Given the description of an element on the screen output the (x, y) to click on. 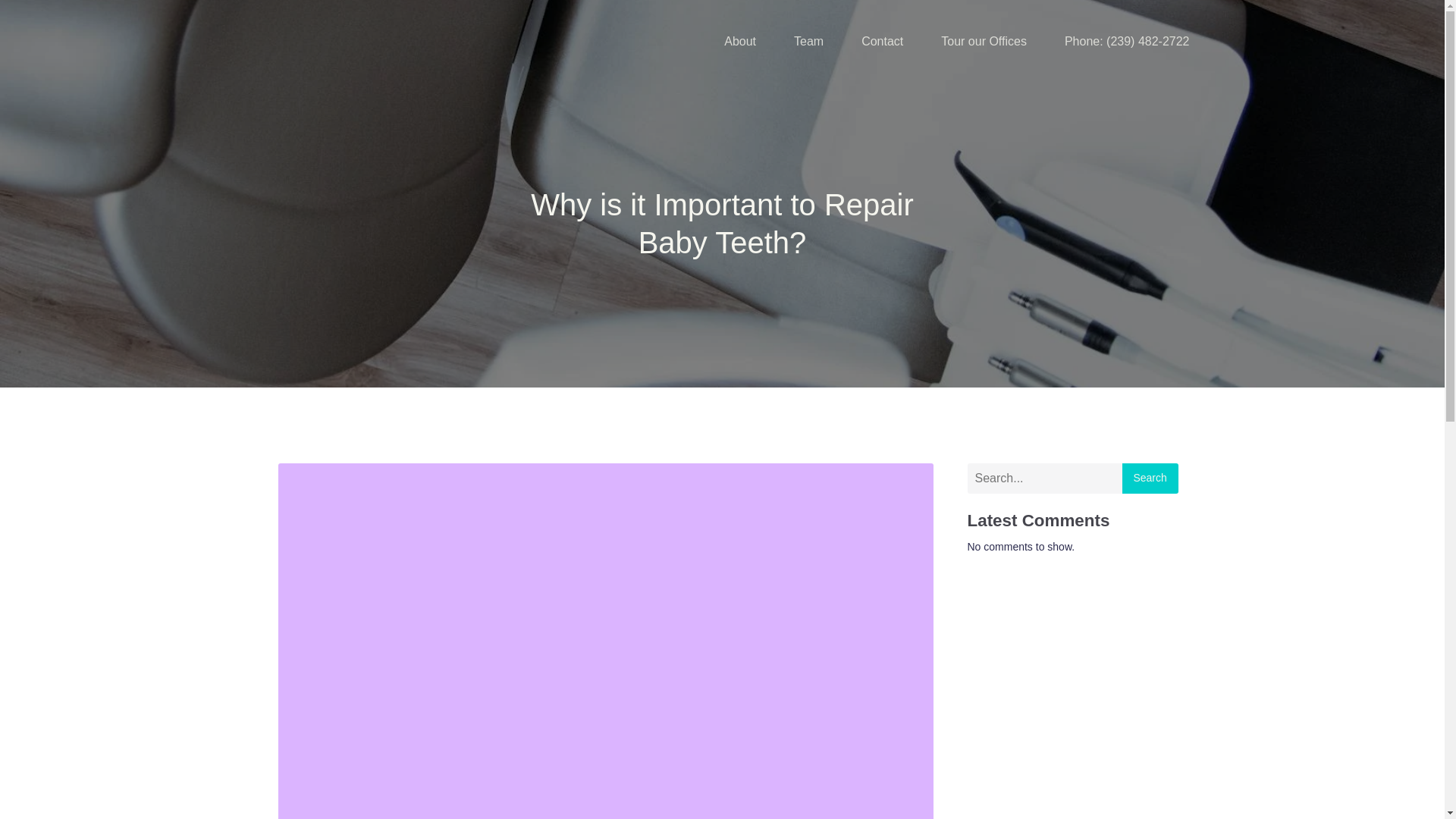
About (739, 41)
Search (1149, 478)
Contact (881, 41)
Tour our Offices (983, 41)
